Given the description of an element on the screen output the (x, y) to click on. 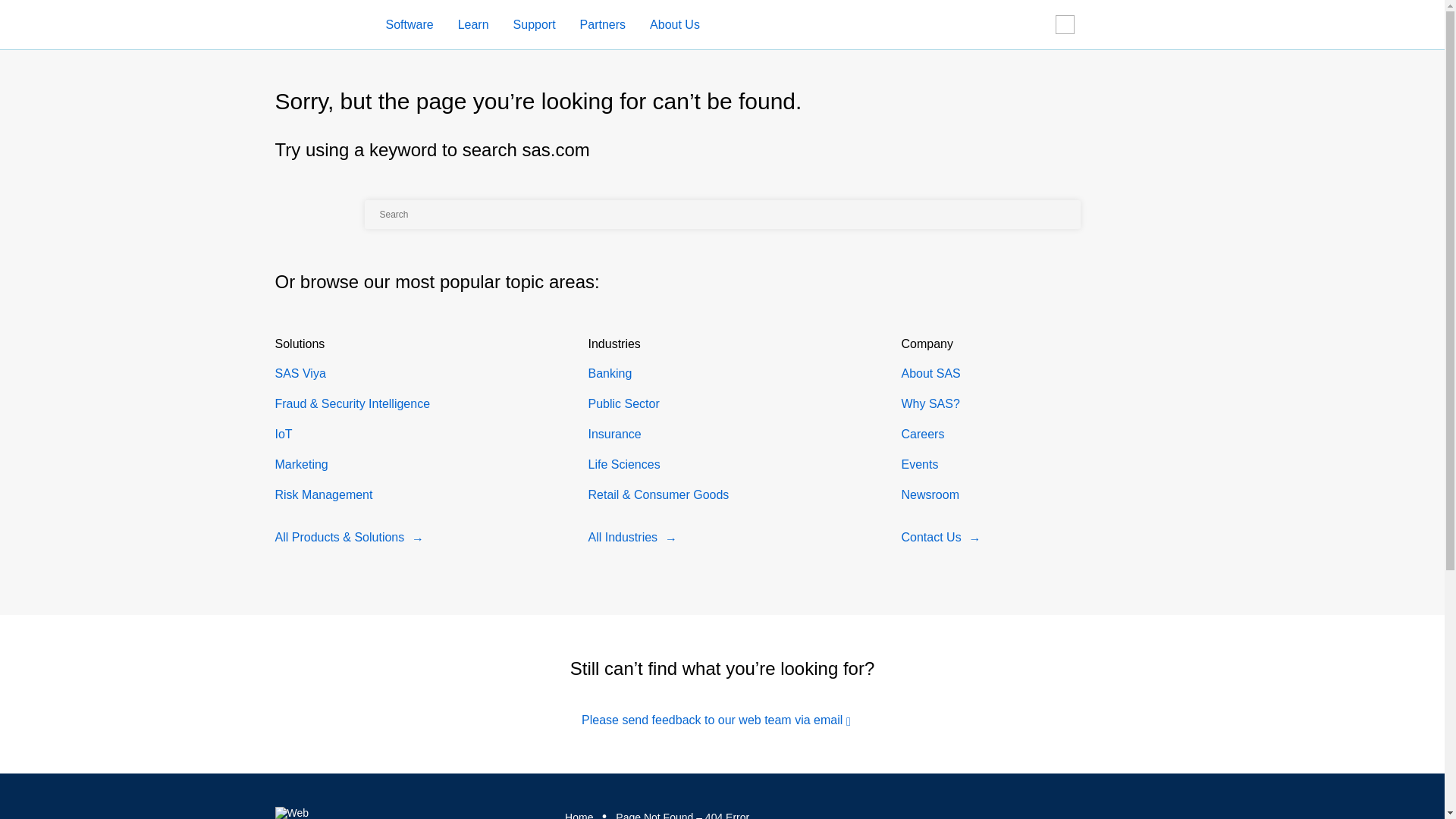
About Us (667, 24)
Partners (595, 24)
Contact Us (1108, 25)
Learn (472, 24)
Worldwide Sites (1072, 24)
Partners (602, 24)
Web (291, 812)
Search (1037, 25)
Search (794, 214)
